Given the description of an element on the screen output the (x, y) to click on. 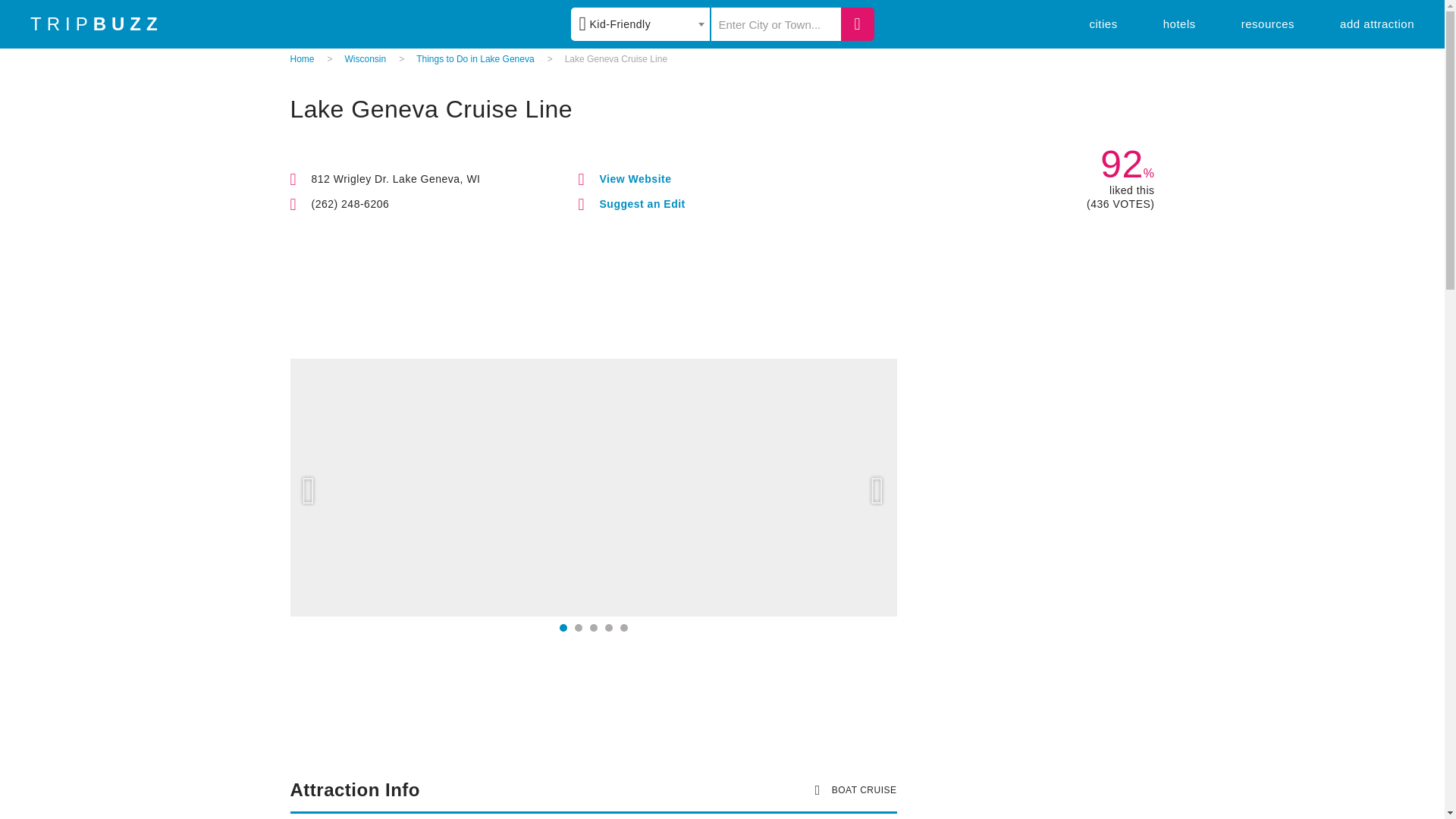
Login (832, 130)
add attraction (1376, 23)
2 (578, 627)
1 (563, 627)
Things to Do in Lake Geneva (475, 59)
cities (1103, 23)
Suggest an Edit (641, 203)
cities (1103, 23)
Home (301, 59)
View Website (634, 178)
